Given the description of an element on the screen output the (x, y) to click on. 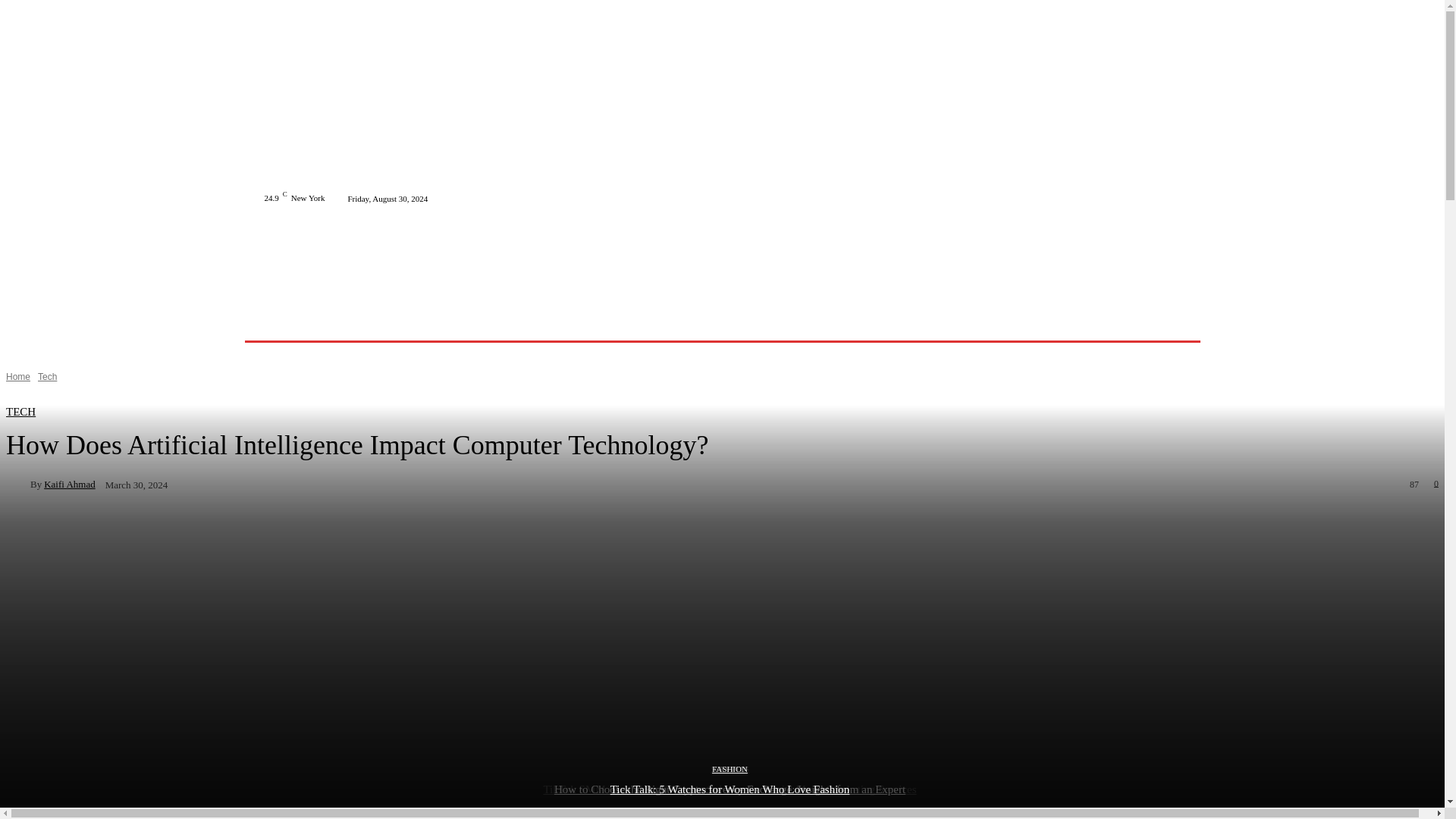
Home Improvement (525, 321)
Kaifi Ahmad (17, 483)
Tech (348, 321)
Home (307, 321)
Contact Us (796, 321)
Digital Marketing (623, 321)
View all posts in Tech (46, 376)
Business (395, 321)
Fashion (448, 321)
